Given the description of an element on the screen output the (x, y) to click on. 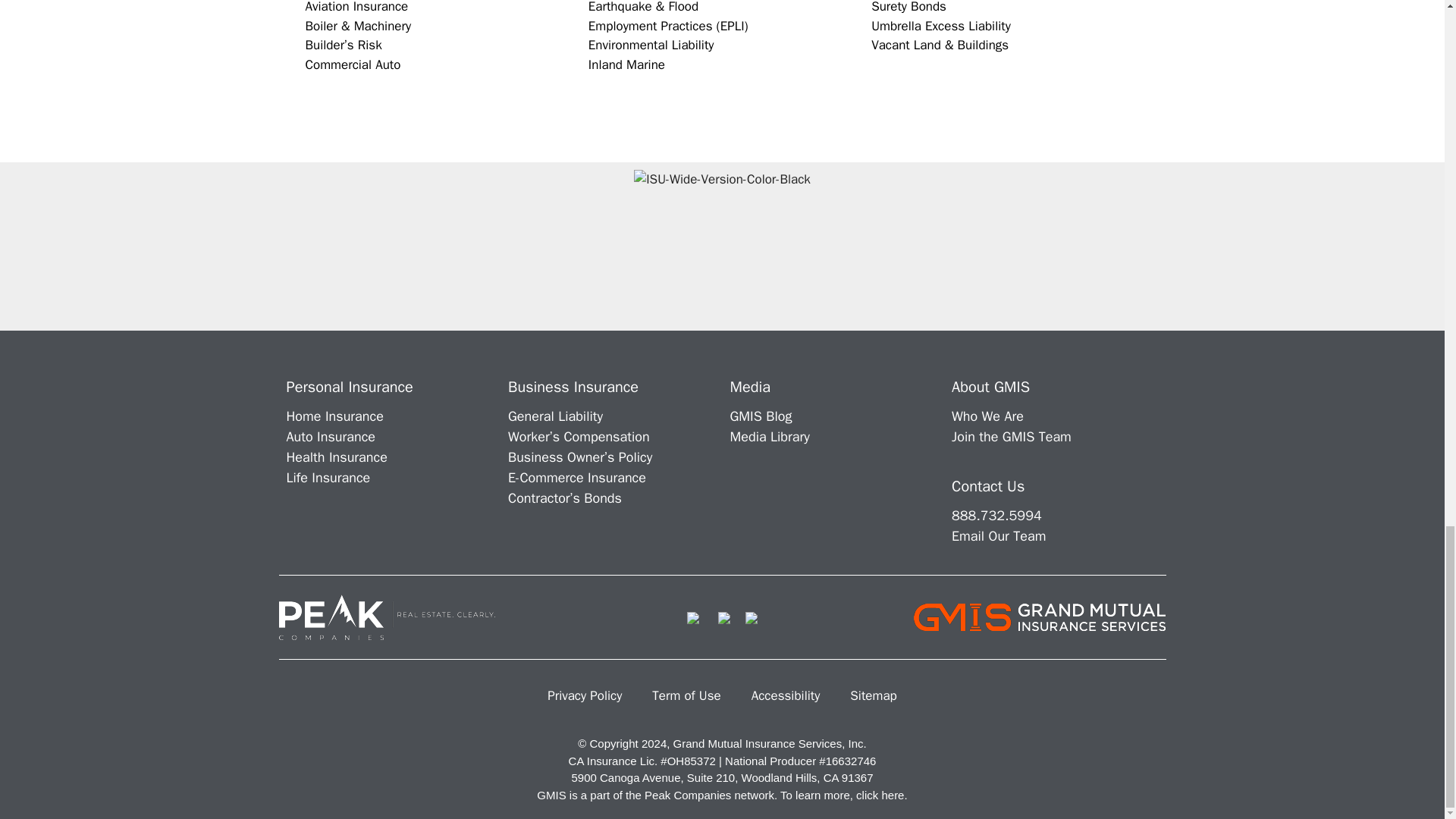
Commercial Auto (352, 64)
Aviation Insurance (355, 7)
ISU-Wide-Version-Color-Black (721, 245)
